Given the description of an element on the screen output the (x, y) to click on. 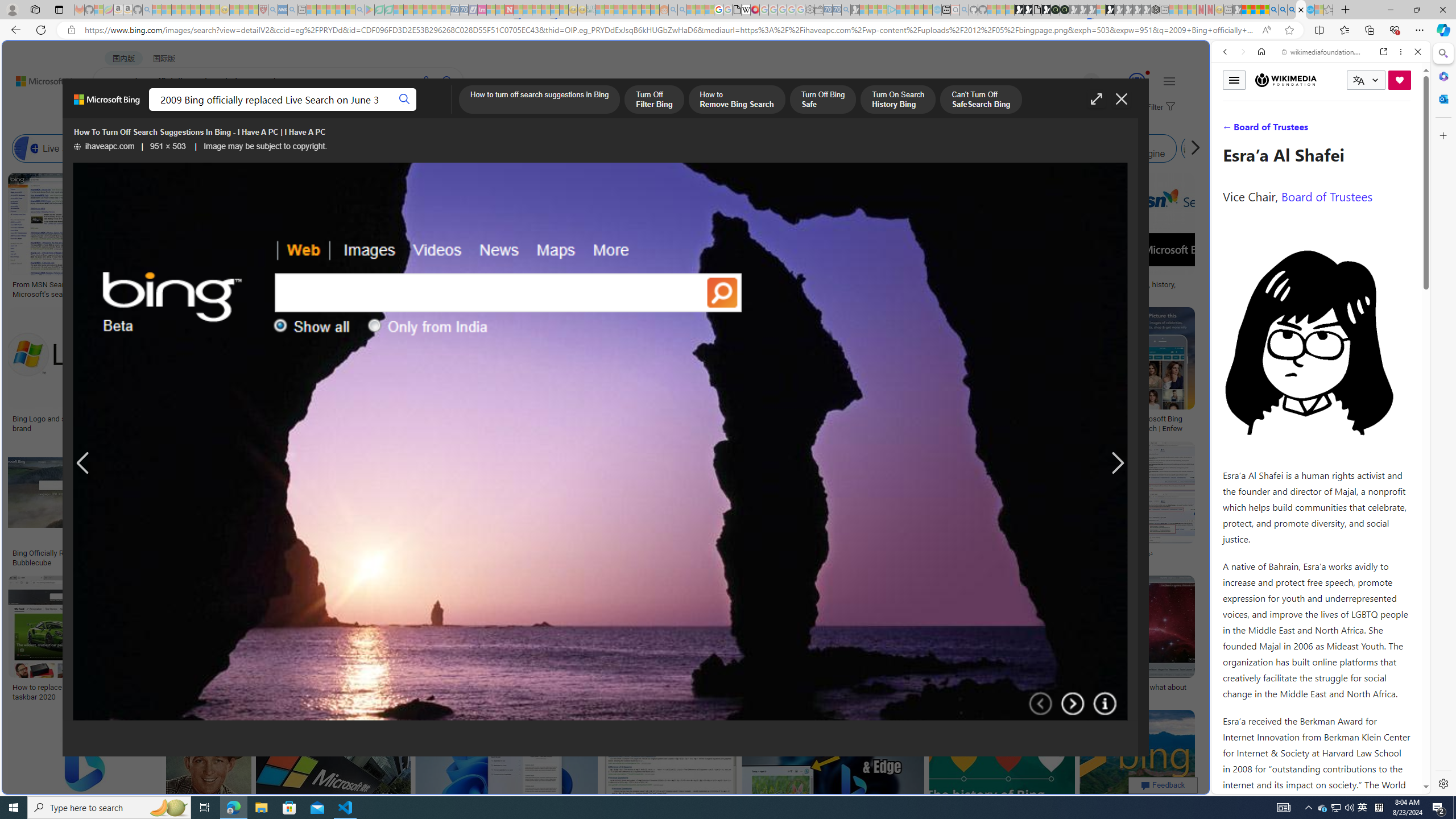
This site scope (1259, 102)
Bing Word Search (403, 148)
Remove the 'News & Interests' bar from Bing | TechLifeSave (863, 371)
Search Filter, Search Tools (1350, 129)
MSN (1118, 536)
Bing: rebranding search: idsgn (a design blog) (699, 289)
Bing Logo and symbol, meaning, history, PNG, brandSave (98, 371)
Search button (404, 99)
